Given the description of an element on the screen output the (x, y) to click on. 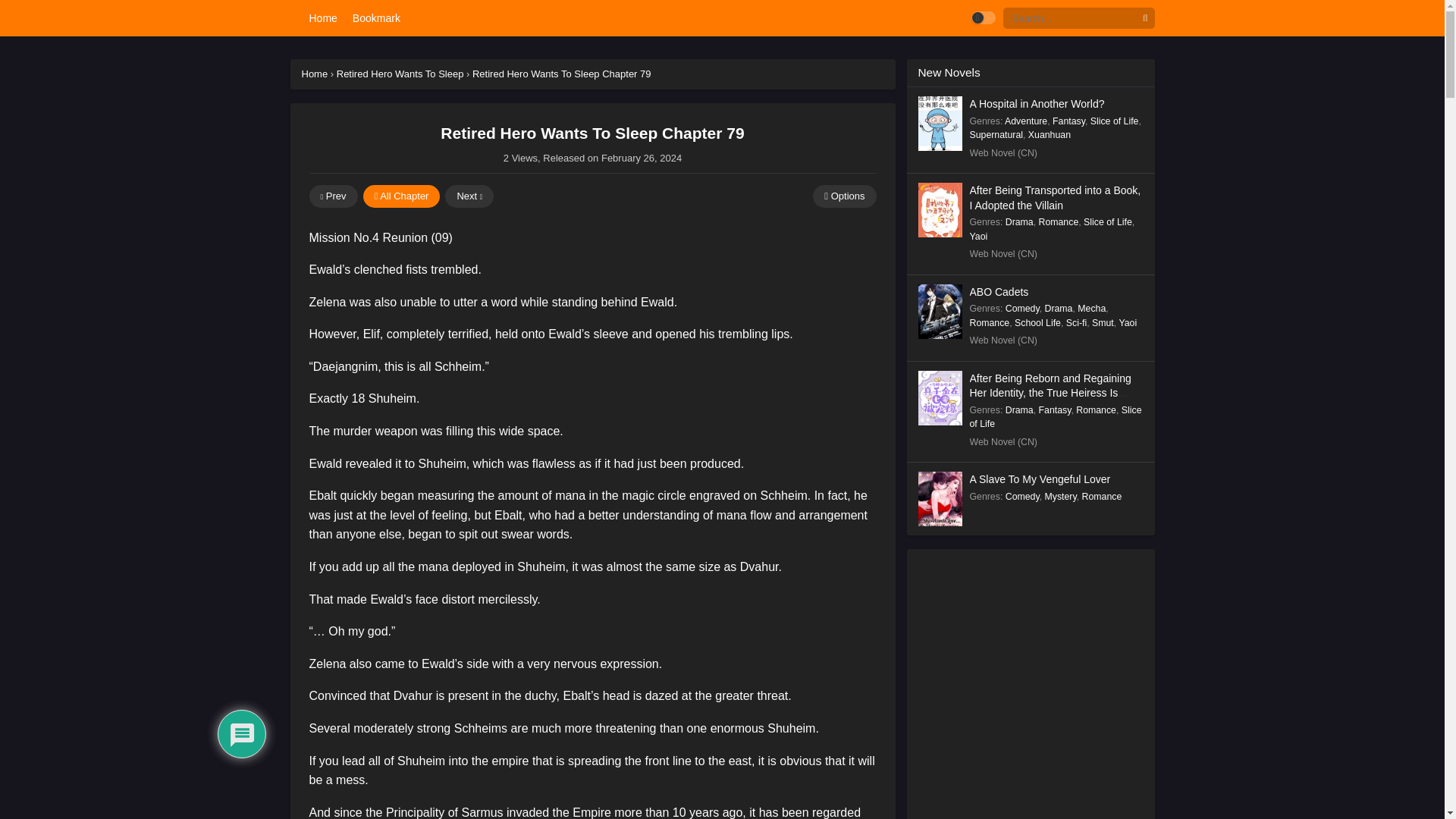
Retired Hero Wants To Sleep (400, 73)
All Chapter (400, 196)
Retired Hero Wants To Sleep Chapter 79 (560, 73)
Home (315, 73)
Home (322, 18)
Prev (333, 196)
Next (469, 196)
Bookmark (376, 18)
